Given the description of an element on the screen output the (x, y) to click on. 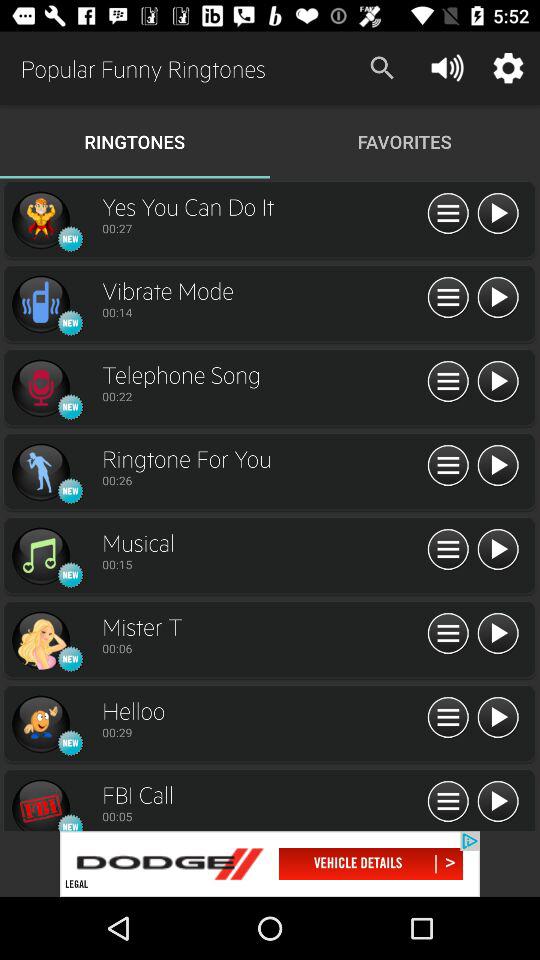
play song (497, 213)
